Given the description of an element on the screen output the (x, y) to click on. 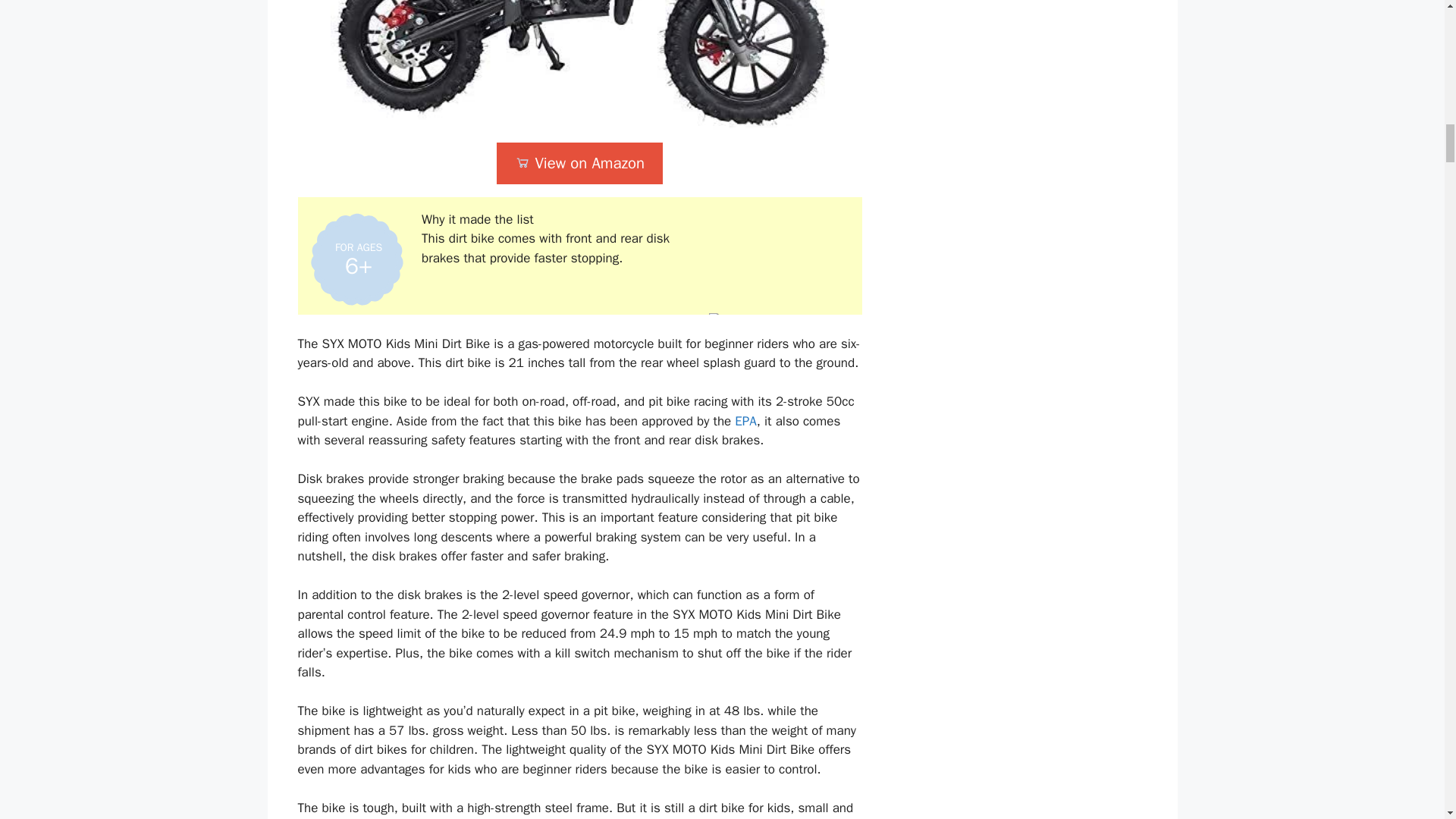
View on Amazon (579, 163)
SYX MOTO Kids Mini Dirt Bike (579, 64)
View on Amazon (579, 163)
EPA (746, 421)
